Given the description of an element on the screen output the (x, y) to click on. 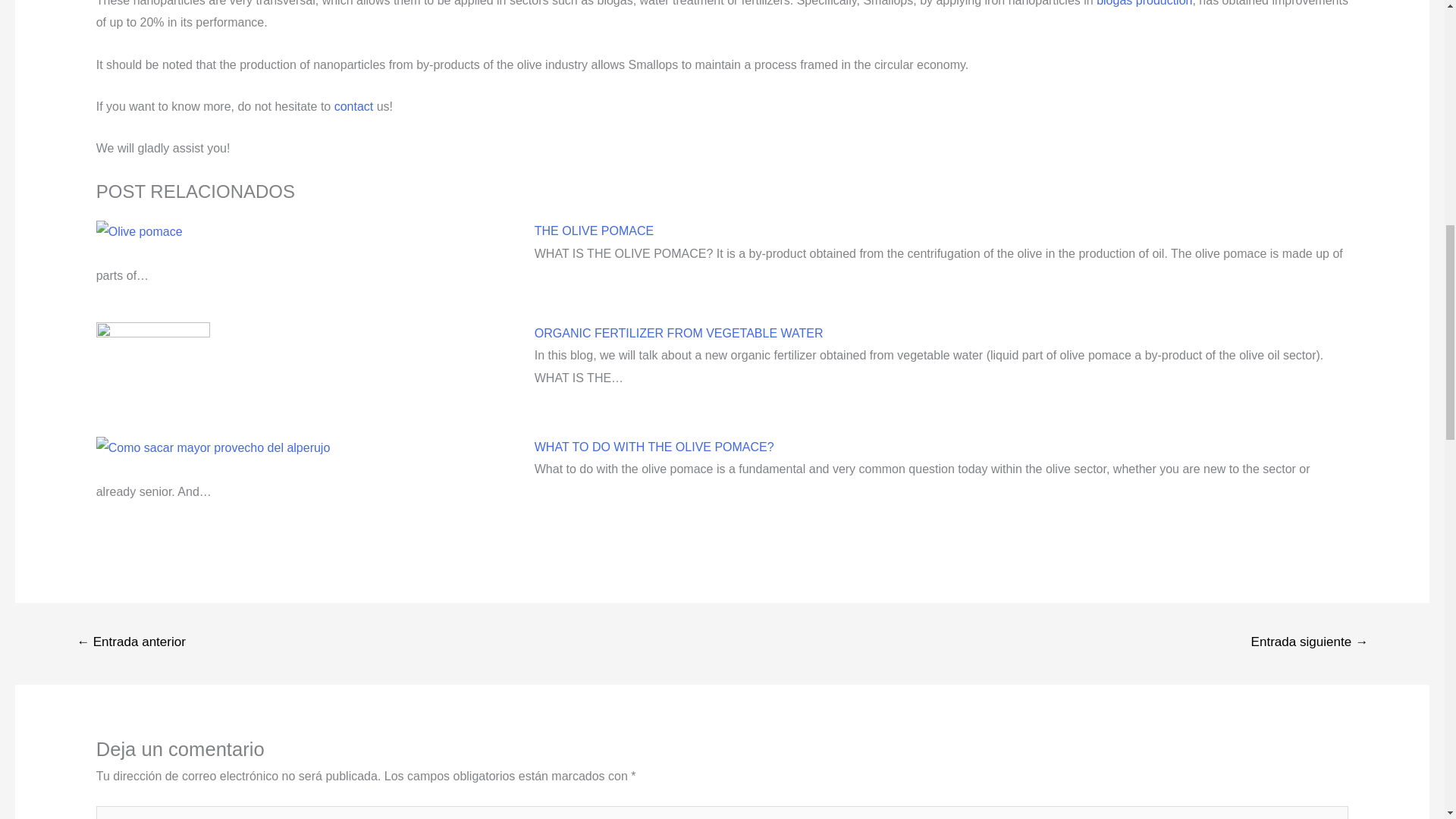
ORGANIC FERTILIZER FROM VEGETABLE WATER (679, 332)
WHAT TO DO WITH THE OLIVE POMACE? (654, 446)
biogas production (1144, 3)
THE OLIVE POMACE (593, 230)
contact (354, 106)
